Given the description of an element on the screen output the (x, y) to click on. 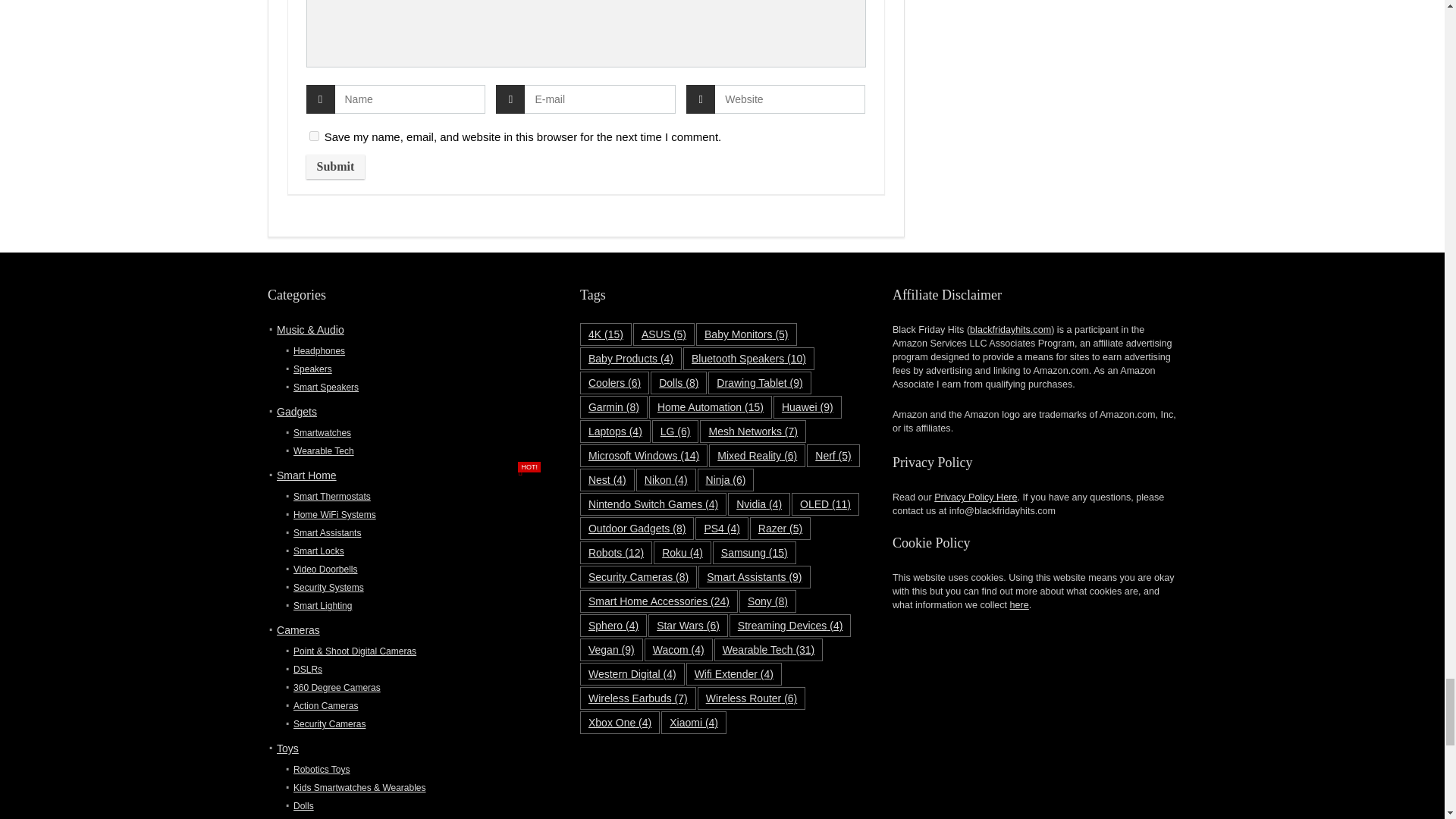
Submit (335, 166)
yes (313, 135)
